Given the description of an element on the screen output the (x, y) to click on. 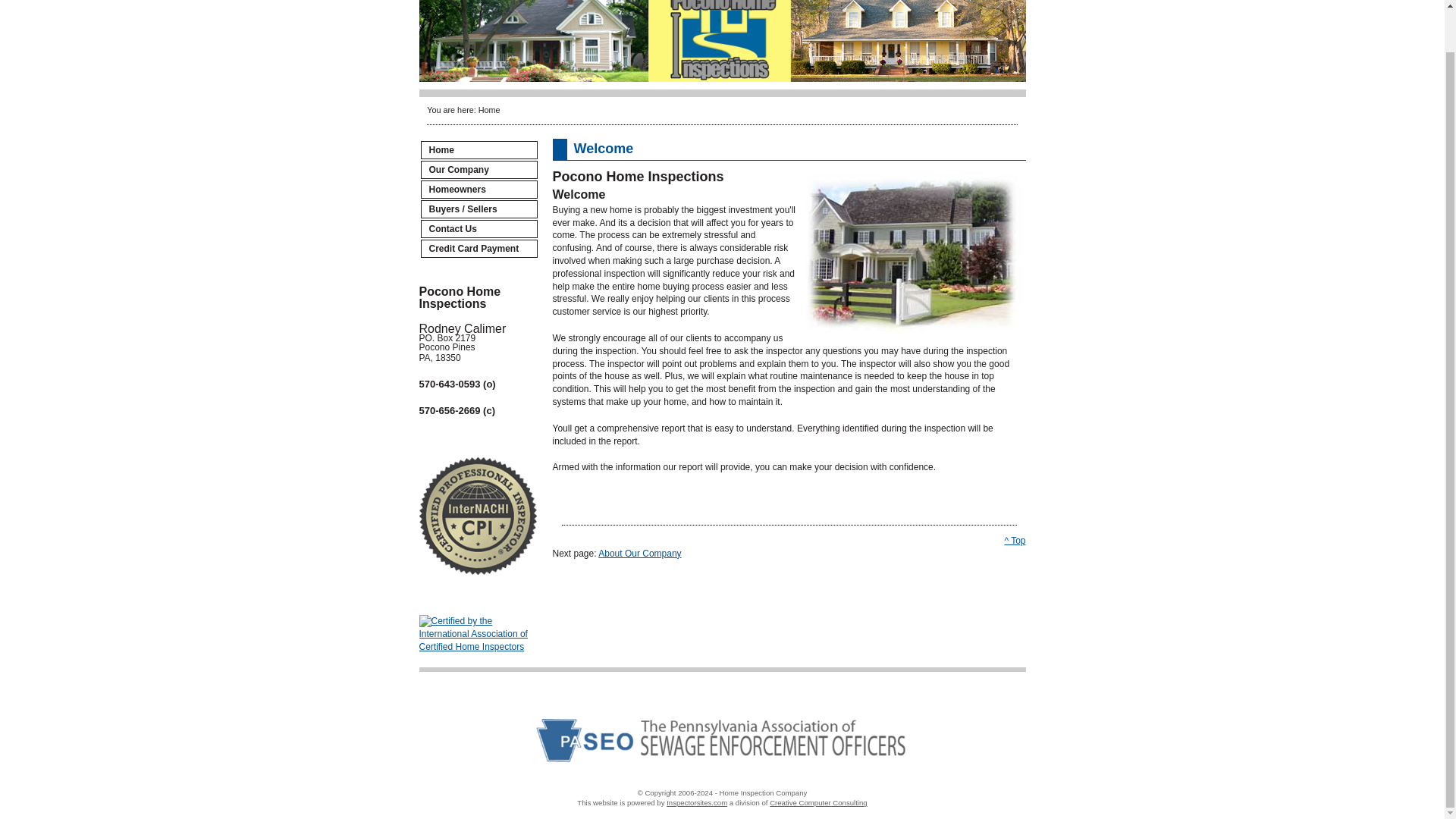
home inspector websites (696, 802)
SEO Experts (818, 802)
About Our Company (639, 552)
Home (478, 149)
Our Company (478, 169)
Homeowners (478, 189)
